Given the description of an element on the screen output the (x, y) to click on. 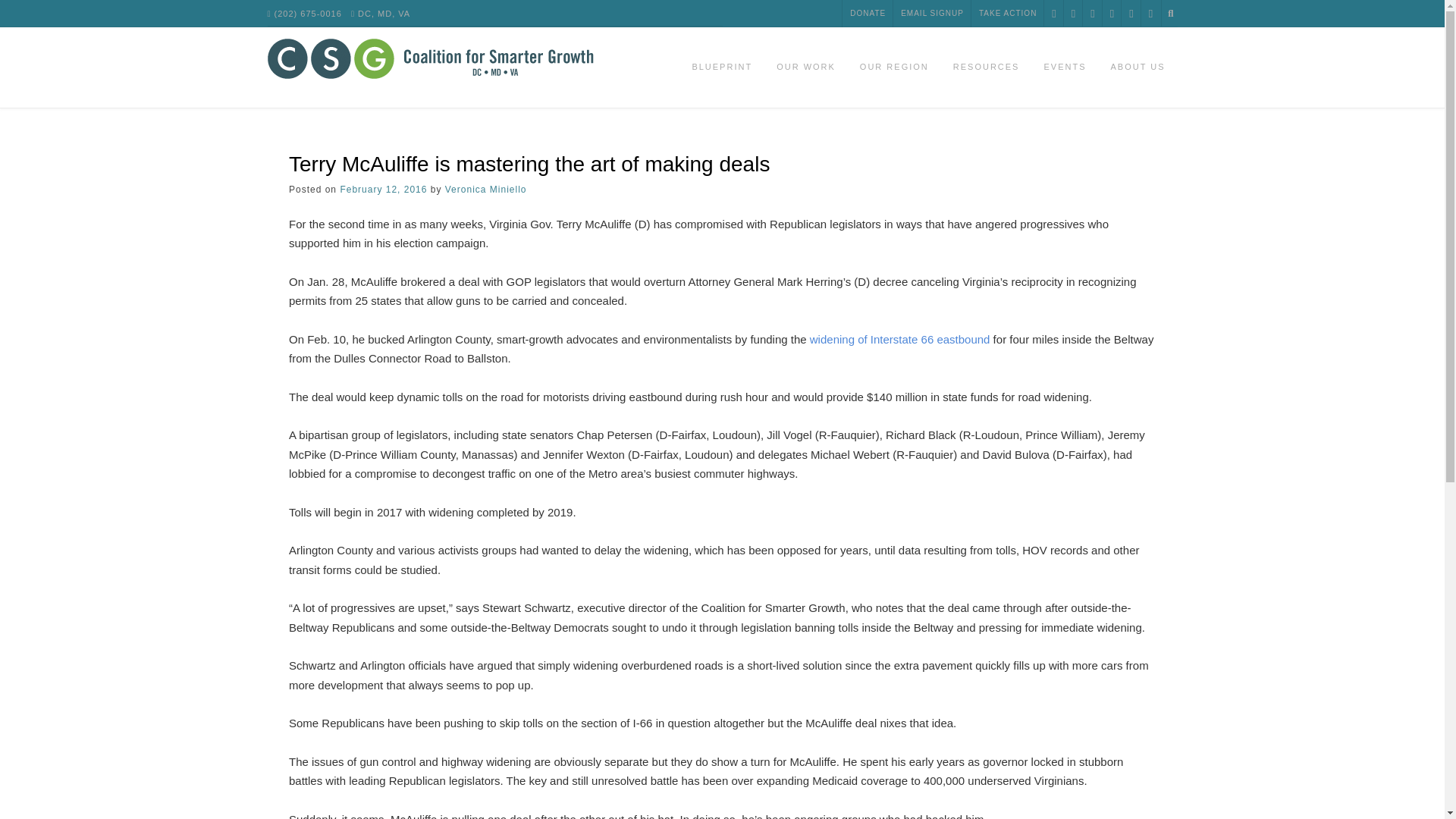
EMAIL SIGNUP (932, 13)
OUR WORK (805, 67)
TAKE ACTION (1007, 13)
DONATE (868, 13)
OUR REGION (893, 67)
BLUEPRINT (721, 67)
